Given the description of an element on the screen output the (x, y) to click on. 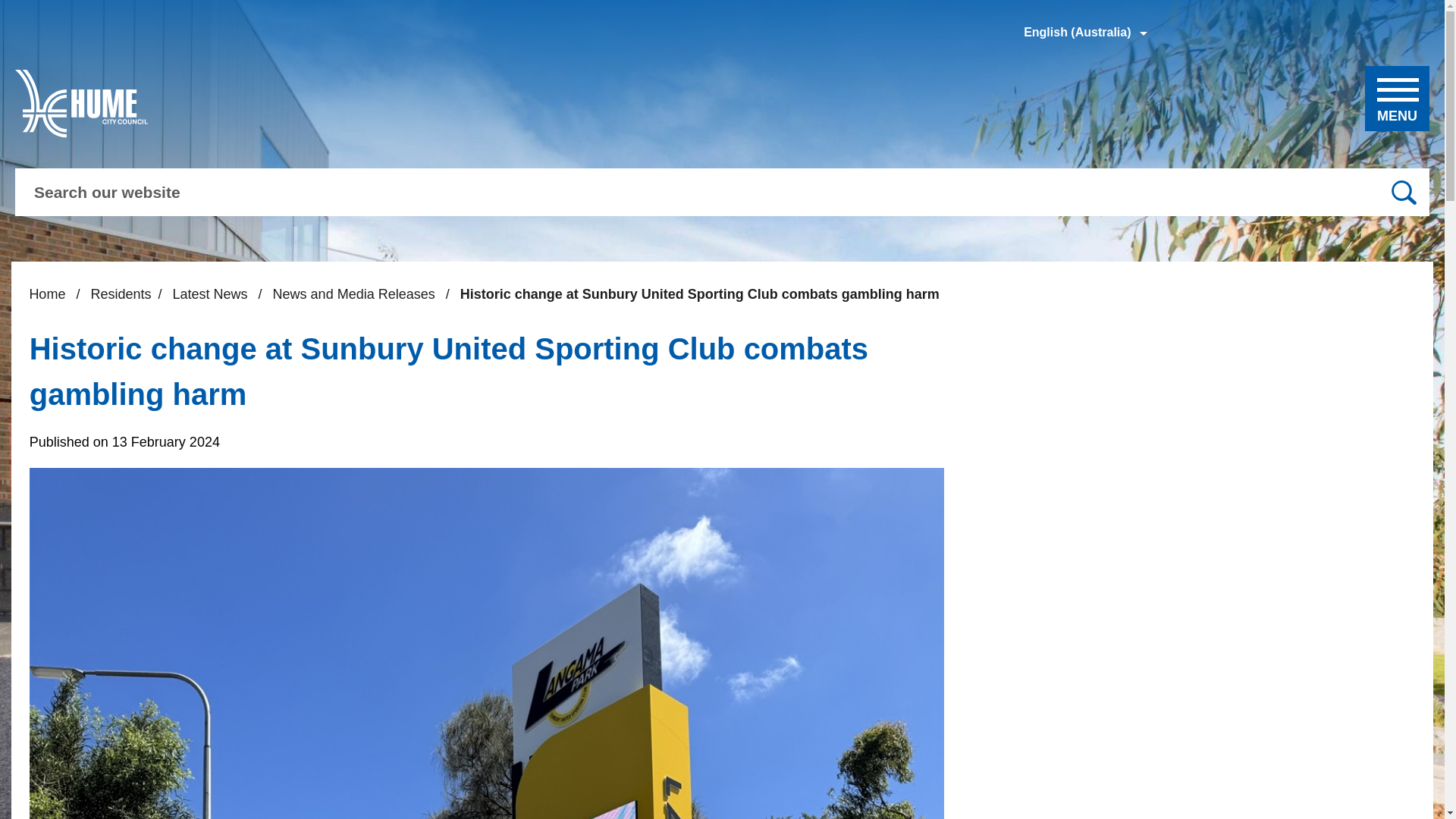
Search (1403, 192)
Search (1403, 192)
